Given the description of an element on the screen output the (x, y) to click on. 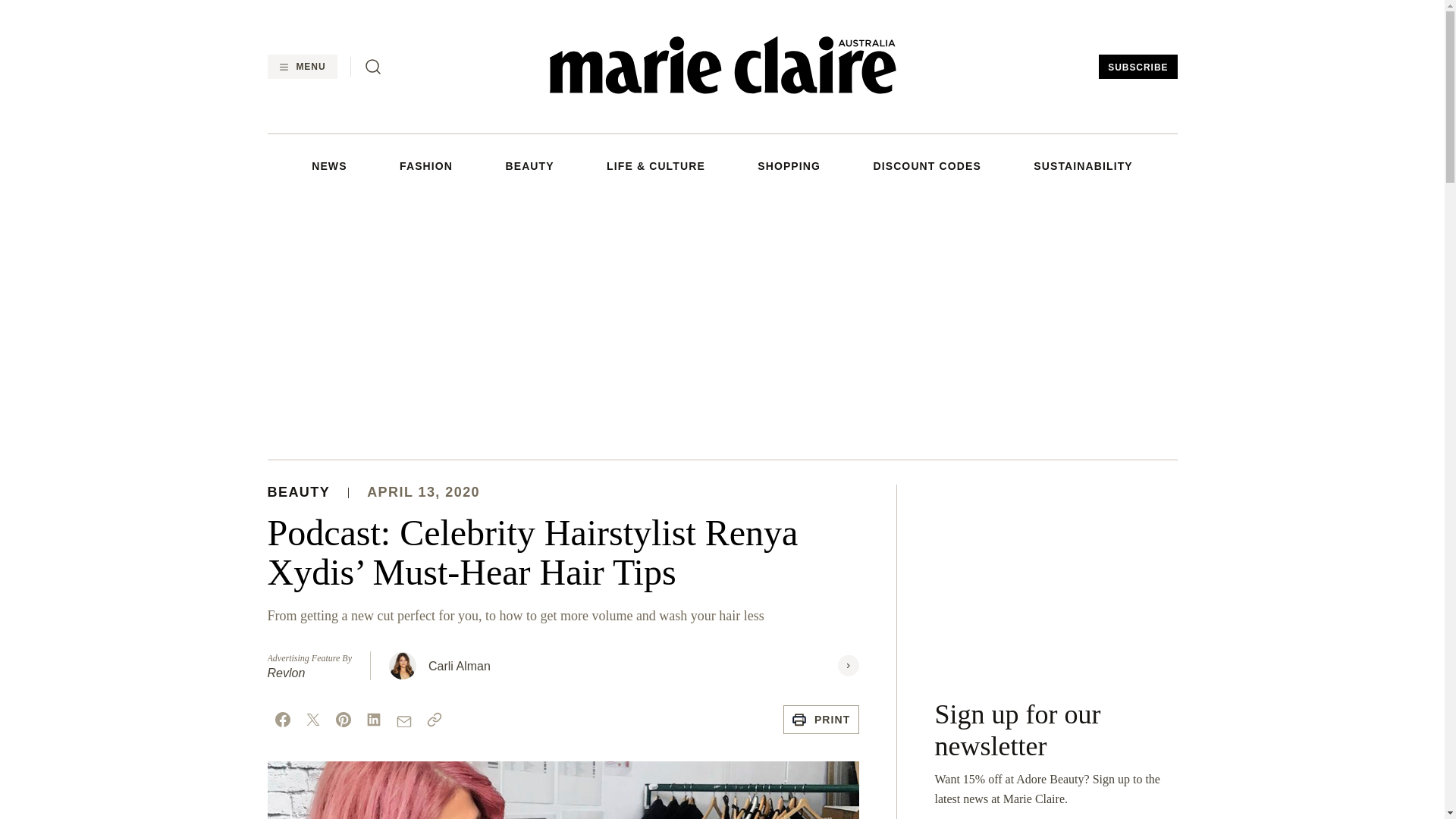
NEWS (328, 165)
SHOPPING (789, 165)
MENU (301, 66)
SUSTAINABILITY (1082, 165)
FASHION (425, 165)
DISCOUNT CODES (925, 165)
BEAUTY (529, 165)
SUBSCRIBE (1137, 66)
